Given the description of an element on the screen output the (x, y) to click on. 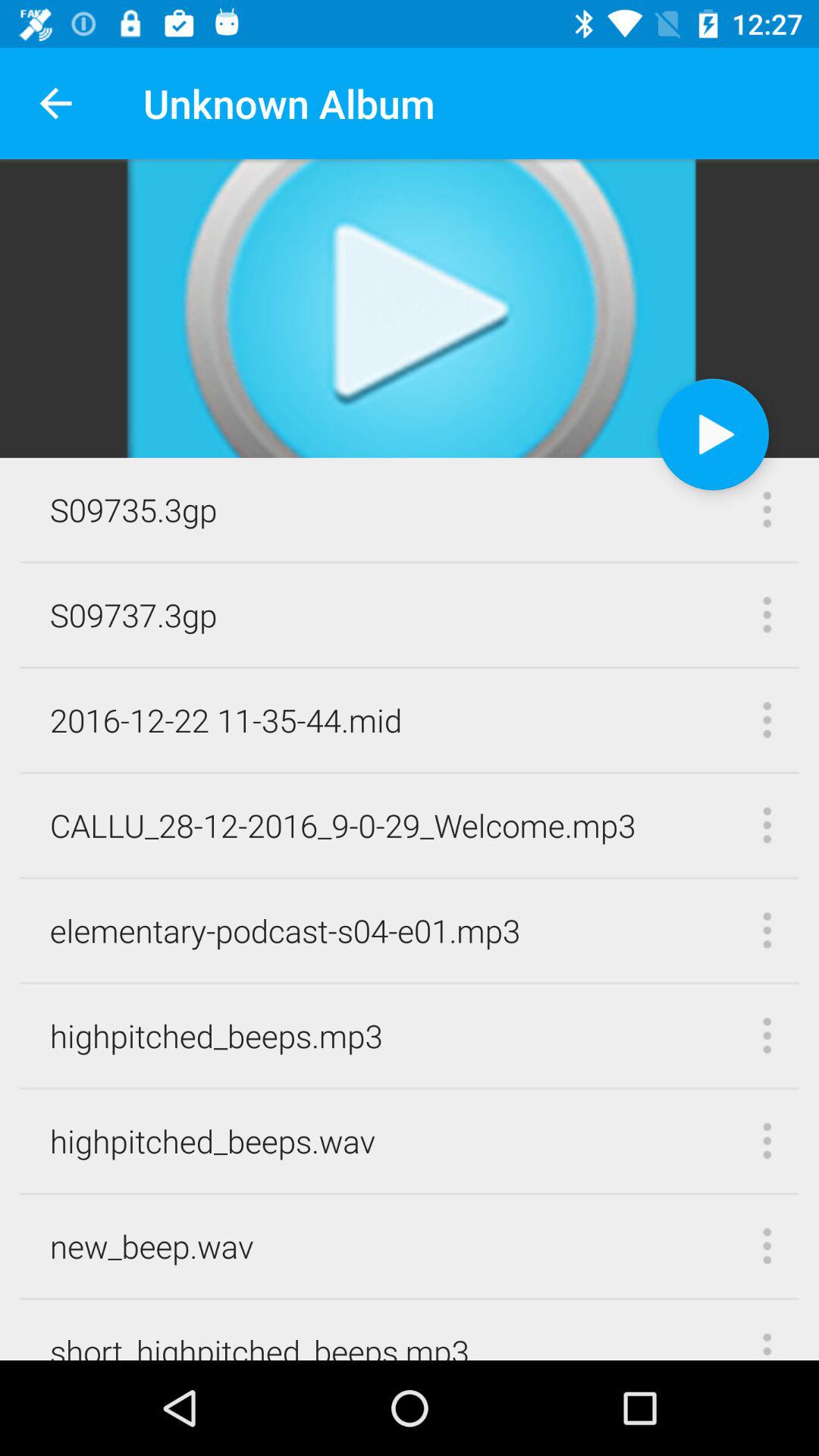
select s09735.3gp icon (133, 509)
